Given the description of an element on the screen output the (x, y) to click on. 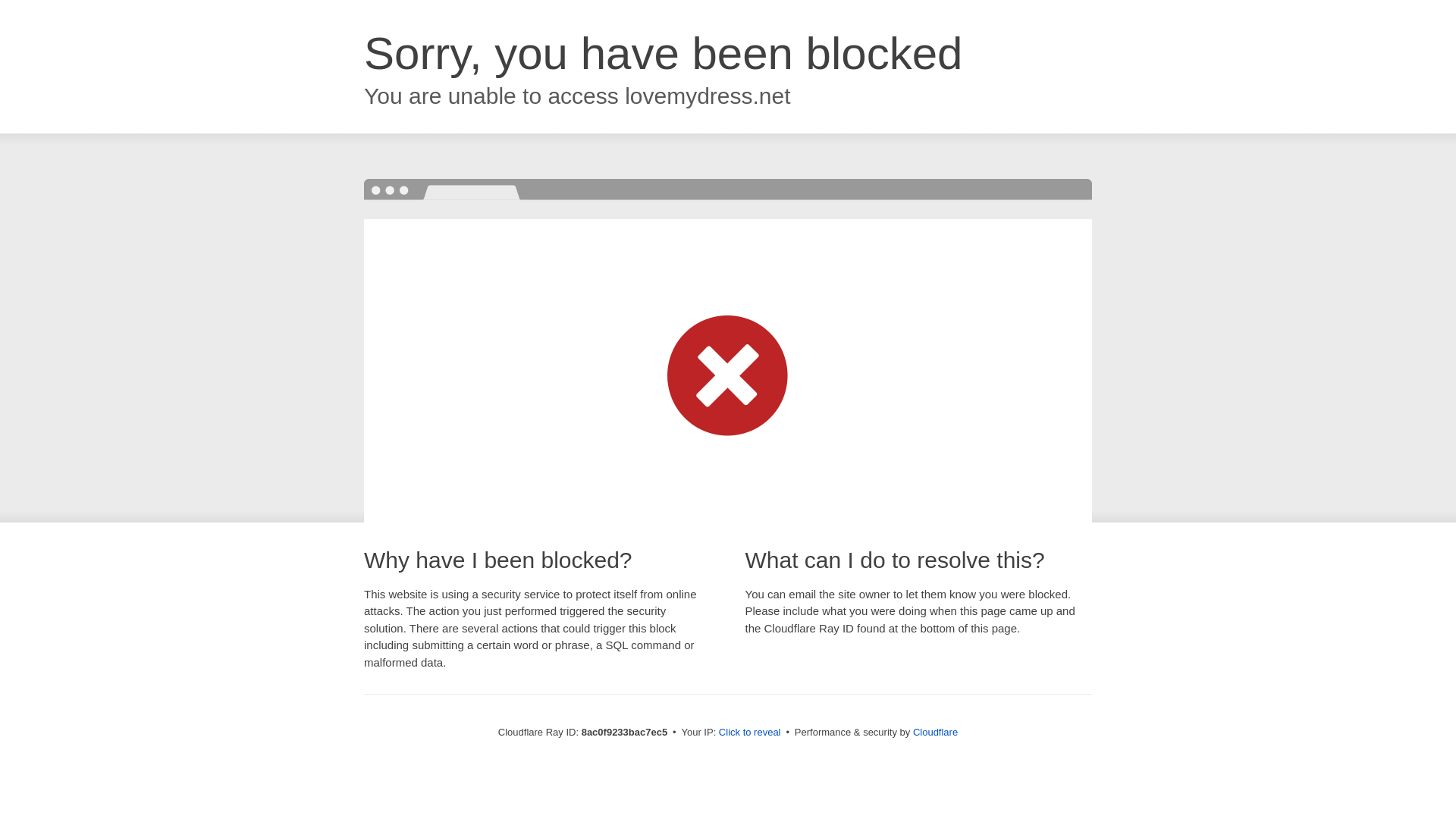
Cloudflare (935, 731)
Click to reveal (749, 732)
